Given the description of an element on the screen output the (x, y) to click on. 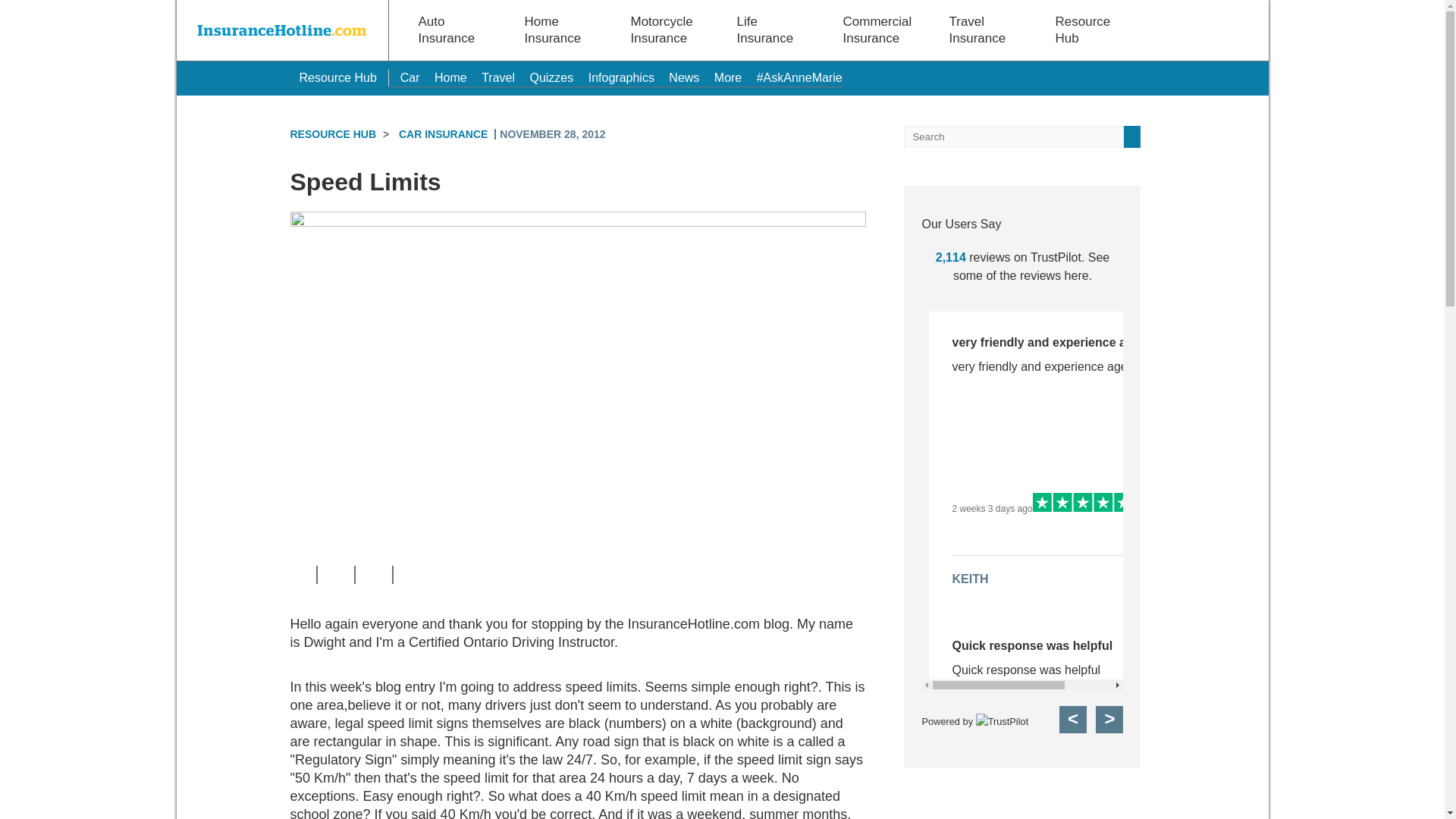
More (727, 77)
CAR INSURANCE (442, 133)
Commercial Insurance (877, 30)
News (683, 77)
Home (450, 77)
Auto Insurance (449, 30)
Motorcycle Insurance (661, 30)
Travel (498, 77)
Travel Insurance (979, 30)
Life Insurance (767, 30)
